Given the description of an element on the screen output the (x, y) to click on. 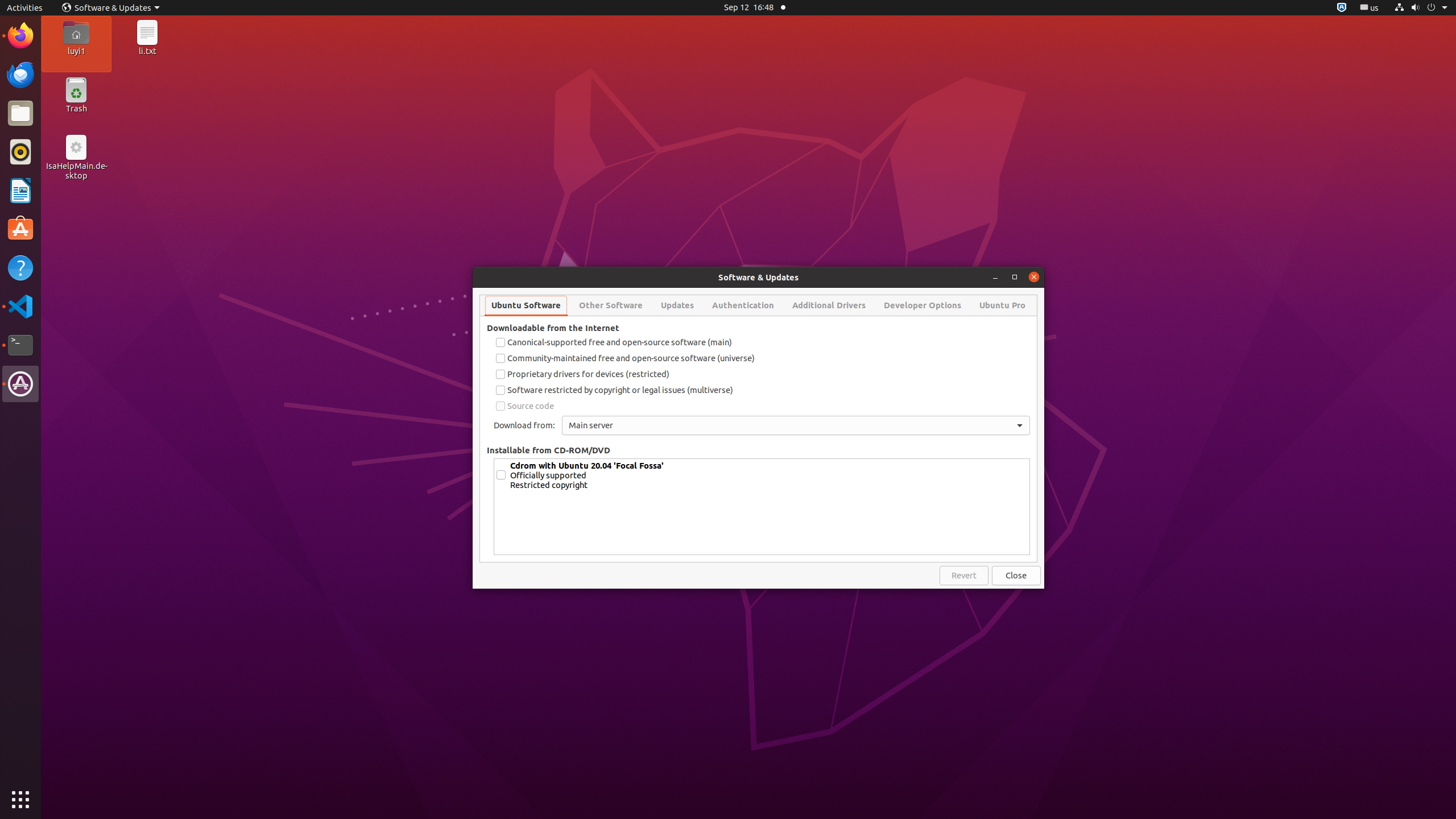
Activities Element type: label (24, 7)
Terminal Element type: push-button (20, 344)
Canonical-supported free and open-source software (main) Element type: check-box (761, 342)
Software & Updates Element type: menu (110, 7)
